Given the description of an element on the screen output the (x, y) to click on. 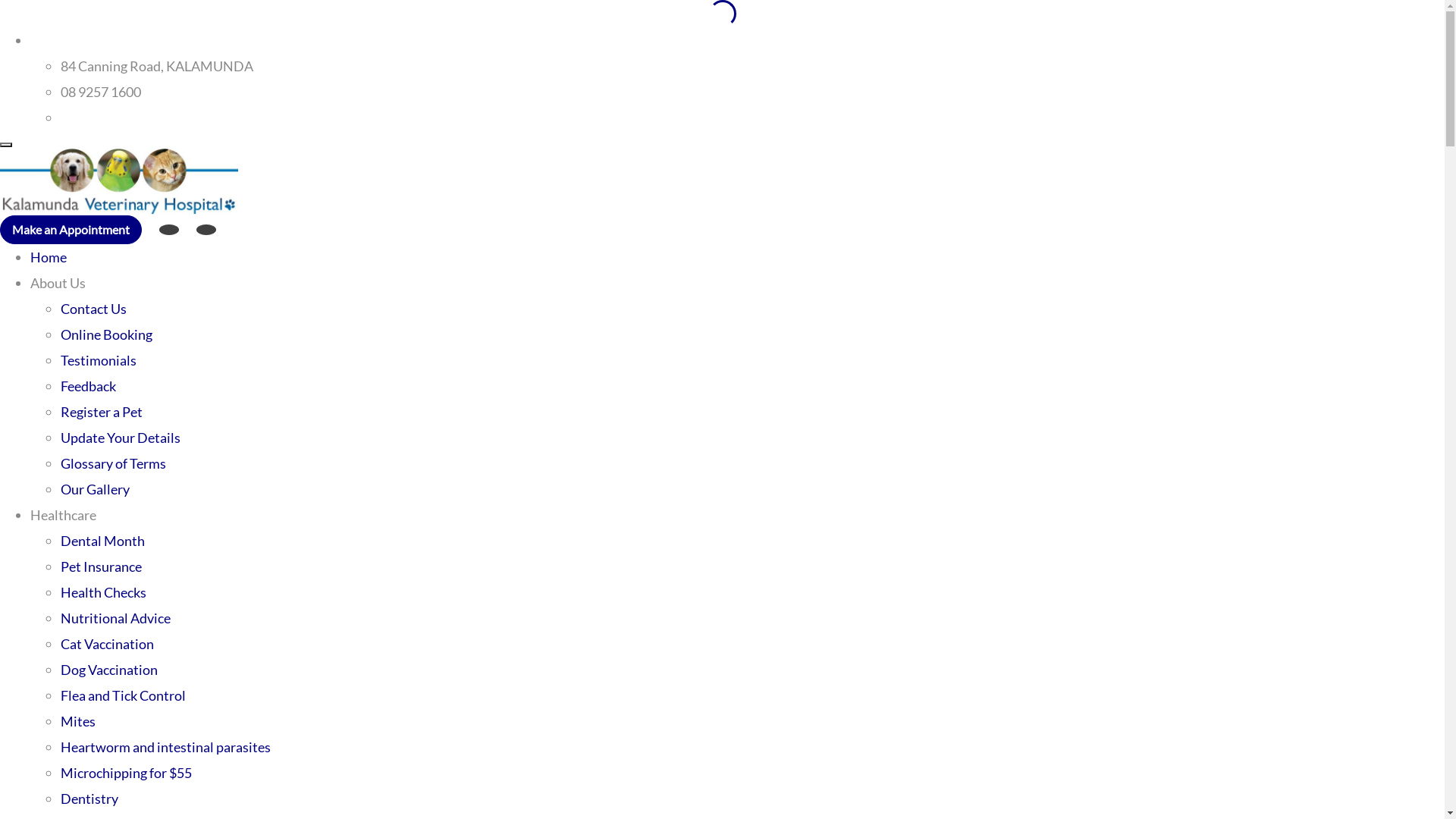
Online Booking Element type: text (106, 334)
Mites Element type: text (77, 720)
Cat Vaccination Element type: text (106, 643)
Flea and Tick Control Element type: text (122, 695)
Contact Us Element type: text (93, 308)
Healthcare Element type: text (63, 514)
Register a Pet Element type: text (101, 411)
Dentistry Element type: text (89, 798)
Update Your Details Element type: text (120, 437)
08 9257 1600 Element type: text (100, 91)
About Us Element type: text (57, 282)
Dental Month Element type: text (102, 540)
Pet Insurance Element type: text (100, 566)
Microchipping for $55 Element type: text (125, 772)
Nutritional Advice Element type: text (115, 617)
Our Gallery Element type: text (94, 488)
Feedback Element type: text (88, 385)
Heartworm and intestinal parasites Element type: text (165, 746)
Dog Vaccination Element type: text (108, 669)
Make an Appointment Element type: text (70, 229)
Health Checks Element type: text (103, 591)
Glossary of Terms Element type: text (113, 463)
Home Element type: text (48, 256)
Testimonials Element type: text (98, 359)
